Given the description of an element on the screen output the (x, y) to click on. 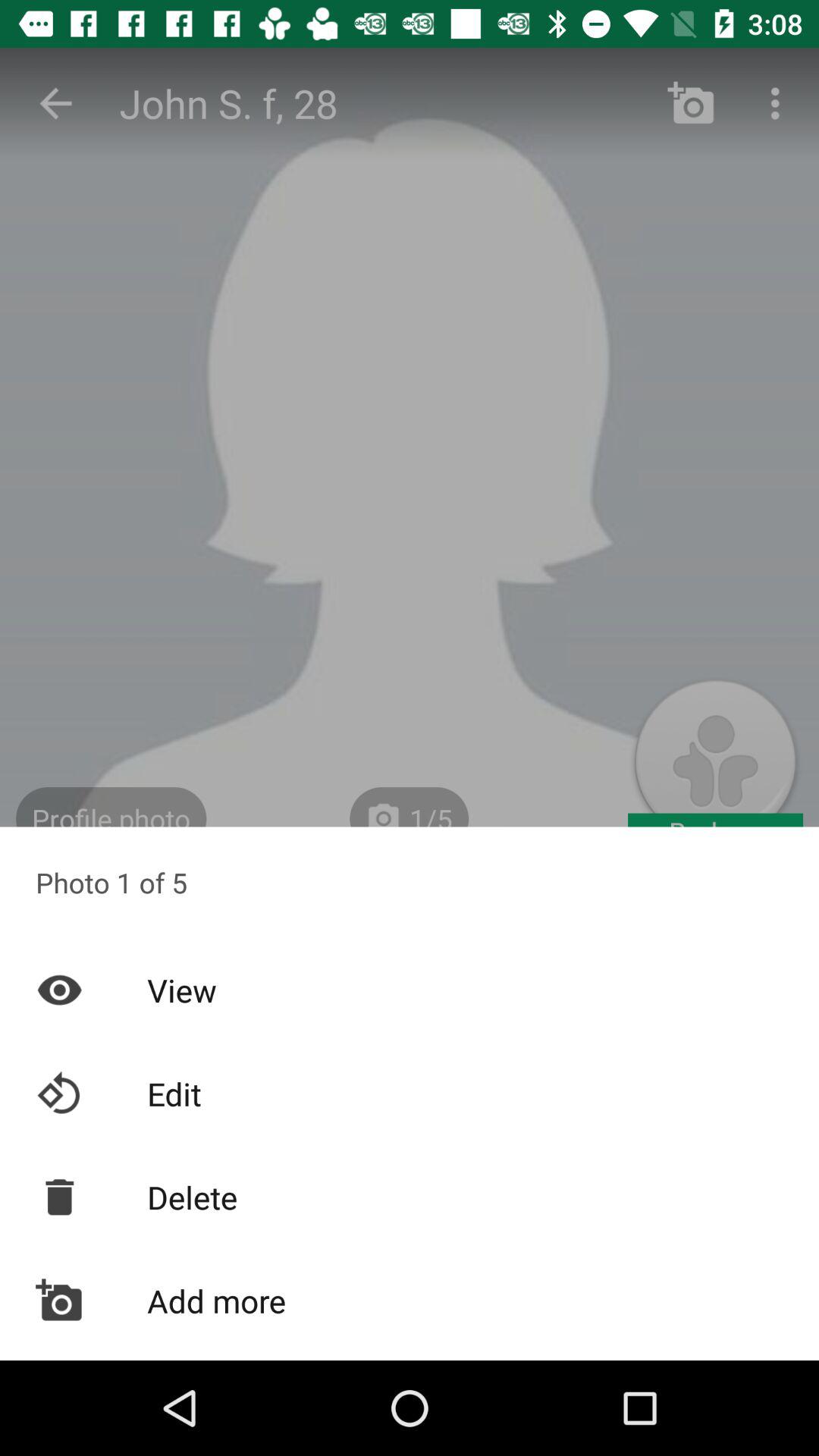
turn off the icon above the add more icon (409, 1196)
